Given the description of an element on the screen output the (x, y) to click on. 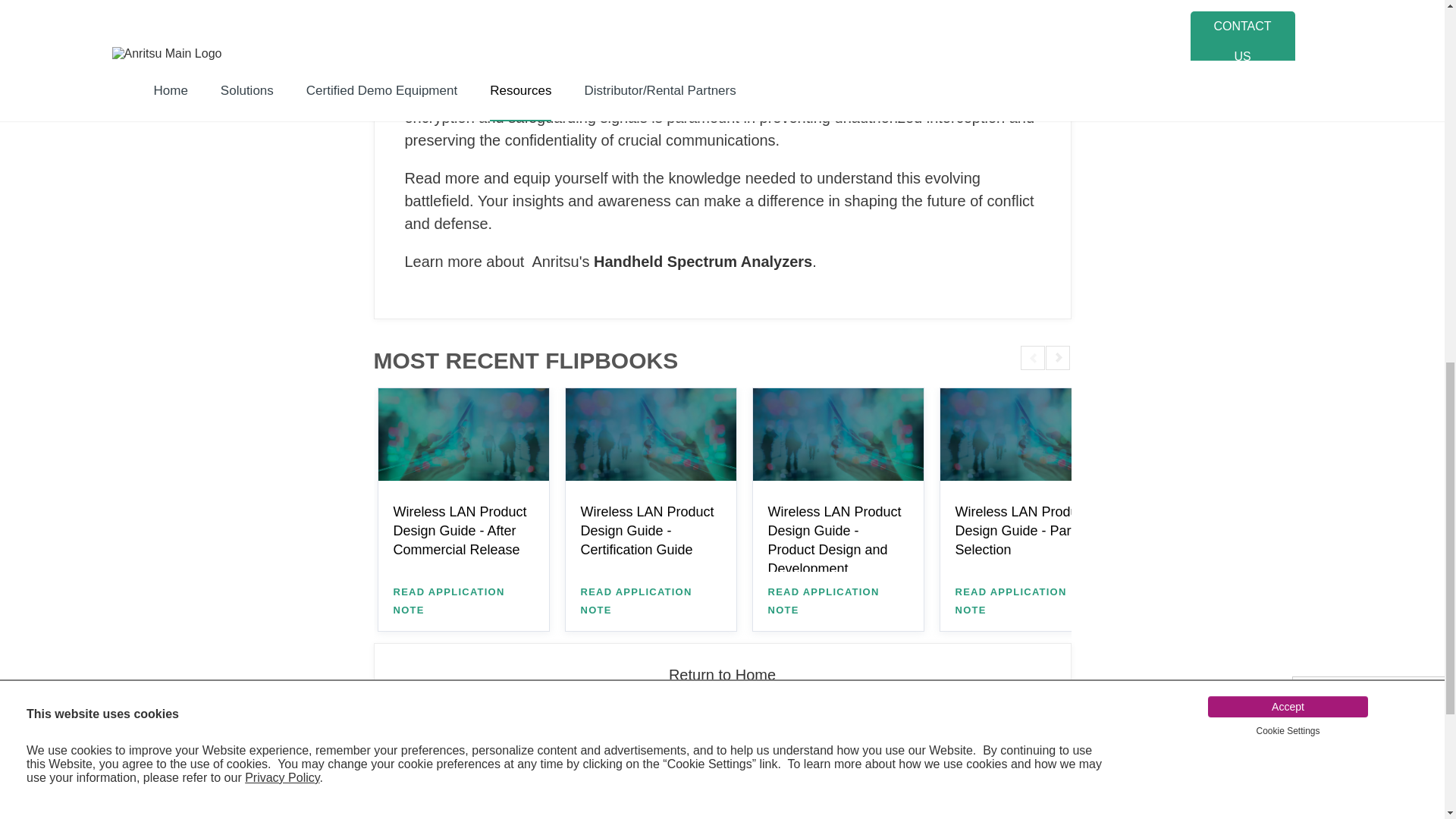
Corporate Information (1009, 812)
News (1009, 796)
Request a Quote (600, 796)
Repair and Calibration (805, 796)
